Given the description of an element on the screen output the (x, y) to click on. 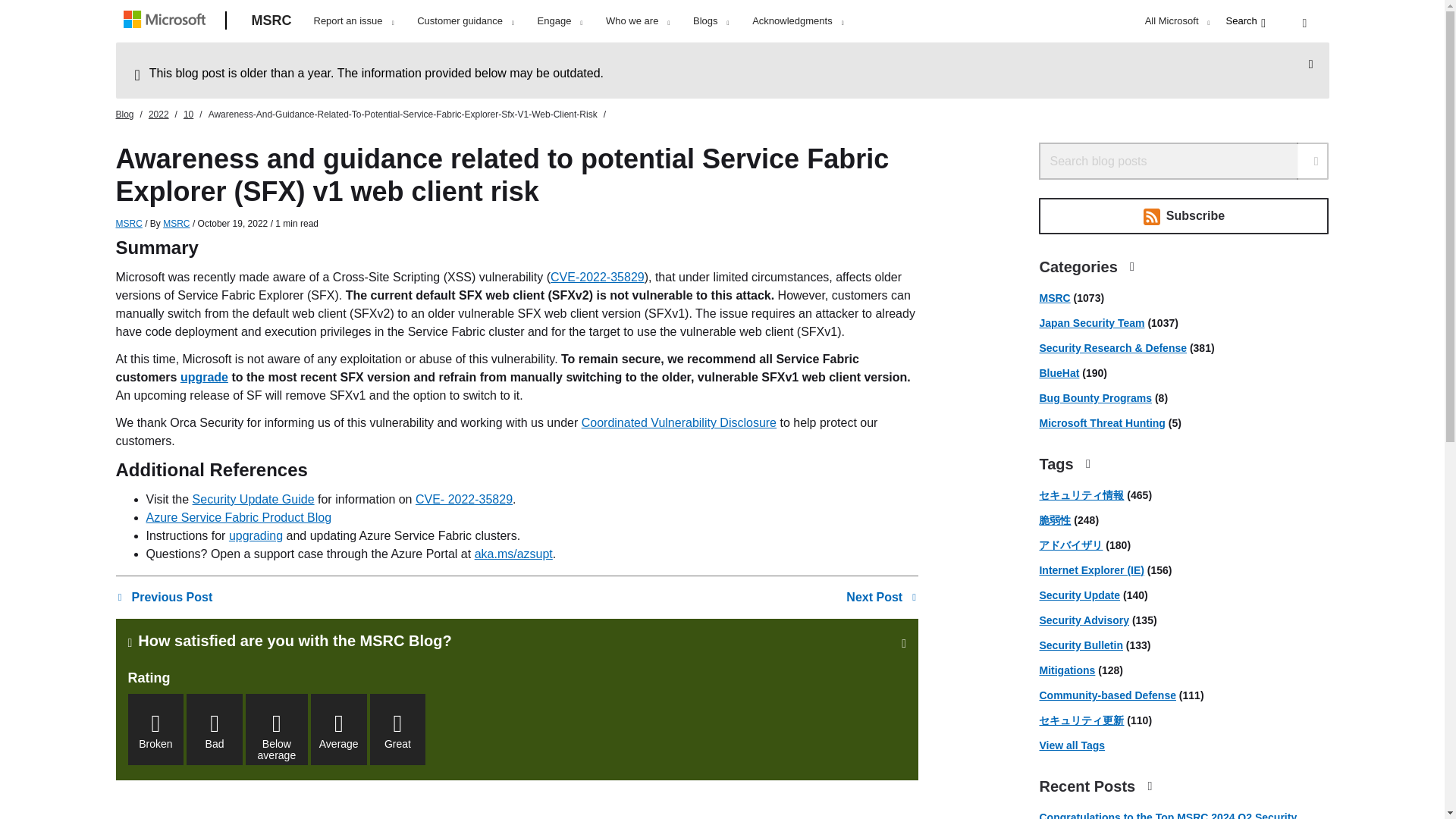
Acknowledgments (797, 20)
Read more posts by the author MSRC (176, 223)
Customer guidance (464, 20)
MSRC (271, 20)
MSRC (128, 223)
Who we are (636, 20)
Engage (559, 20)
Blogs (710, 20)
Feedback (1306, 22)
Microsoft (167, 20)
Report an issue (352, 20)
